Given the description of an element on the screen output the (x, y) to click on. 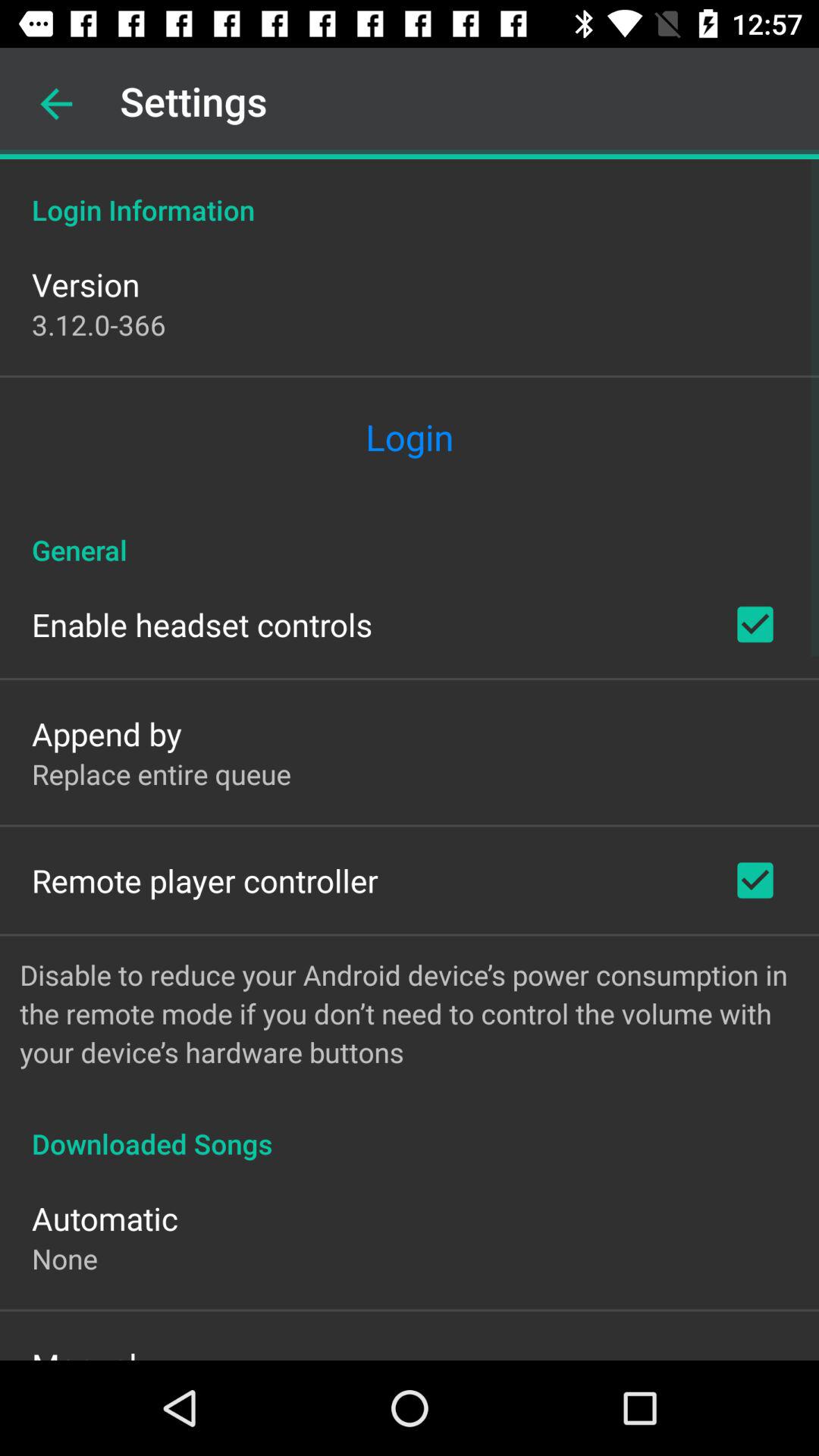
tap icon at the center (409, 533)
